Given the description of an element on the screen output the (x, y) to click on. 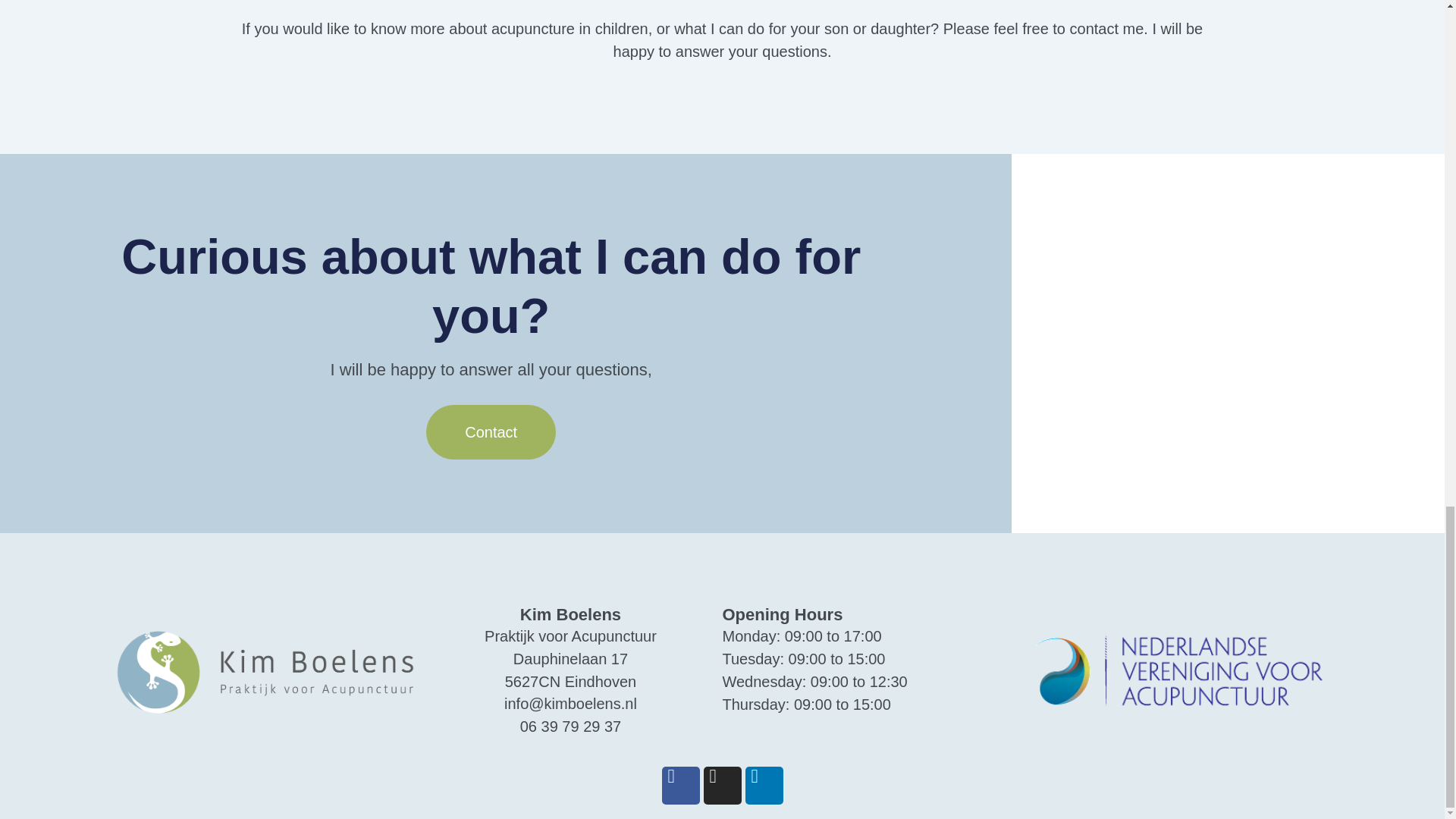
Tuesday: 09:00 to 15:00 (873, 658)
Monday: 09:00 to 17:00 (873, 635)
06 39 79 29 37 (570, 725)
Contact (491, 431)
